Given the description of an element on the screen output the (x, y) to click on. 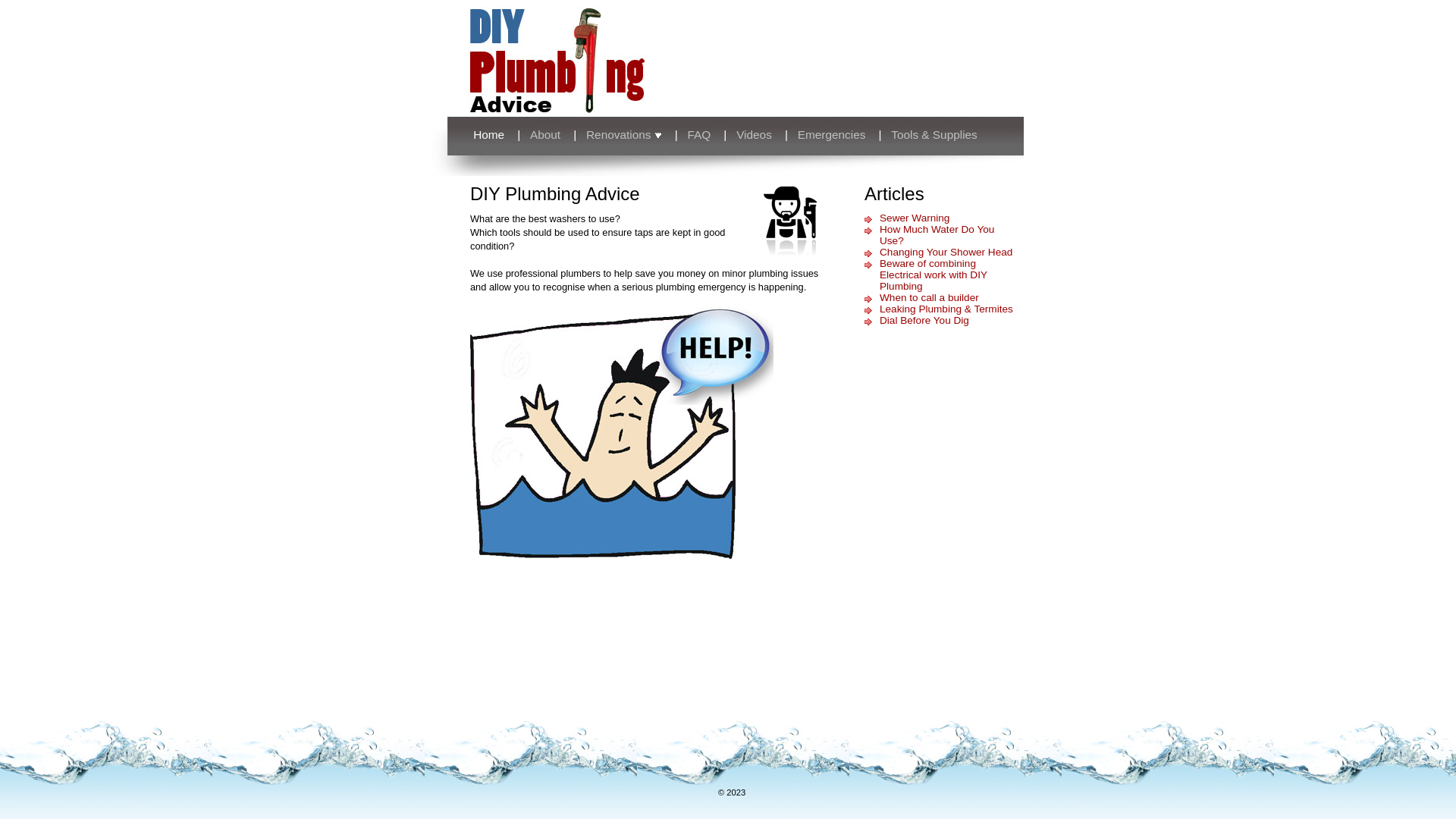
Renovations Element type: text (624, 134)
Beware of combining Electrical work with DIY Plumbing Element type: text (933, 274)
Changing Your Shower Head Element type: text (945, 251)
        Home Element type: text (475, 134)
How Much Water Do You Use? Element type: text (936, 234)
Sewer Warning Element type: text (914, 217)
About Element type: text (545, 134)
Tools & Supplies Element type: text (934, 134)
FAQ Element type: text (699, 134)
Emergencies Element type: text (831, 134)
Videos Element type: text (753, 134)
Dial Before You Dig Element type: text (924, 320)
When to call a builder Element type: text (929, 297)
Leaking Plumbing & Termites Element type: text (946, 308)
